Given the description of an element on the screen output the (x, y) to click on. 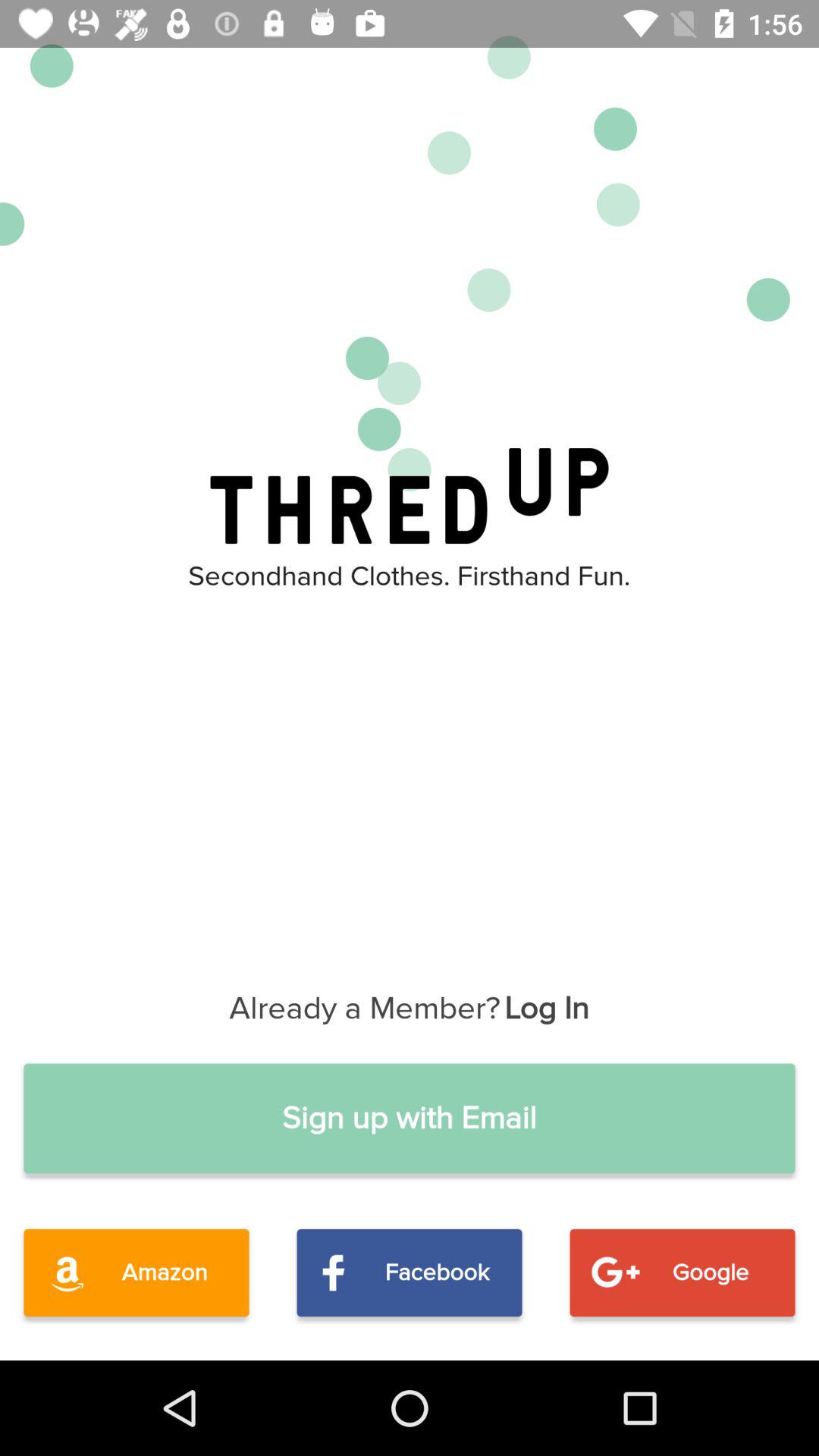
turn on item next to the google item (409, 1272)
